Given the description of an element on the screen output the (x, y) to click on. 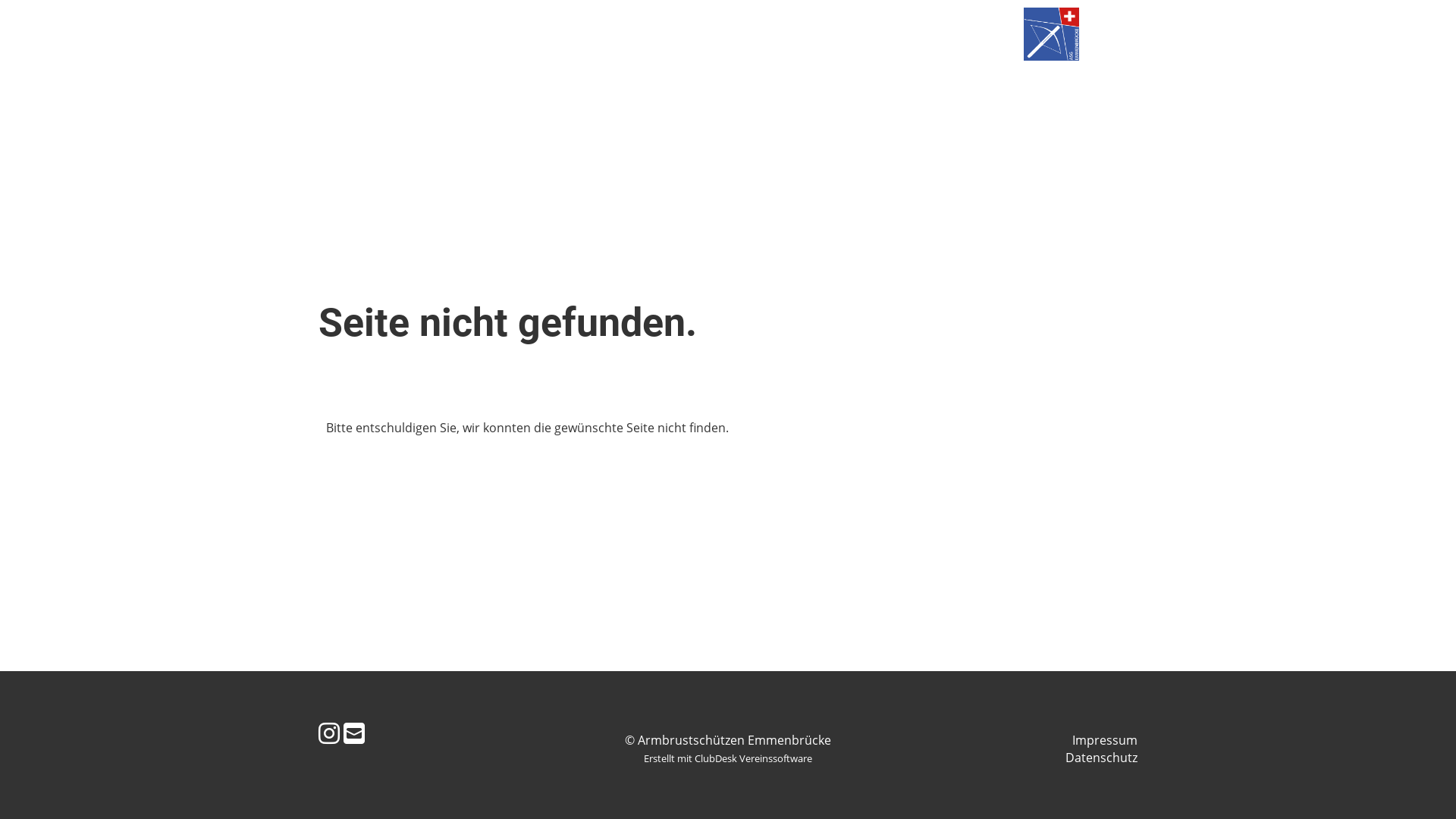
Login Element type: text (133, 34)
Datenschutz Element type: text (1101, 757)
Impressum Element type: text (1104, 739)
Erstellt mit ClubDesk Vereinssoftware Element type: text (727, 758)
